Given the description of an element on the screen output the (x, y) to click on. 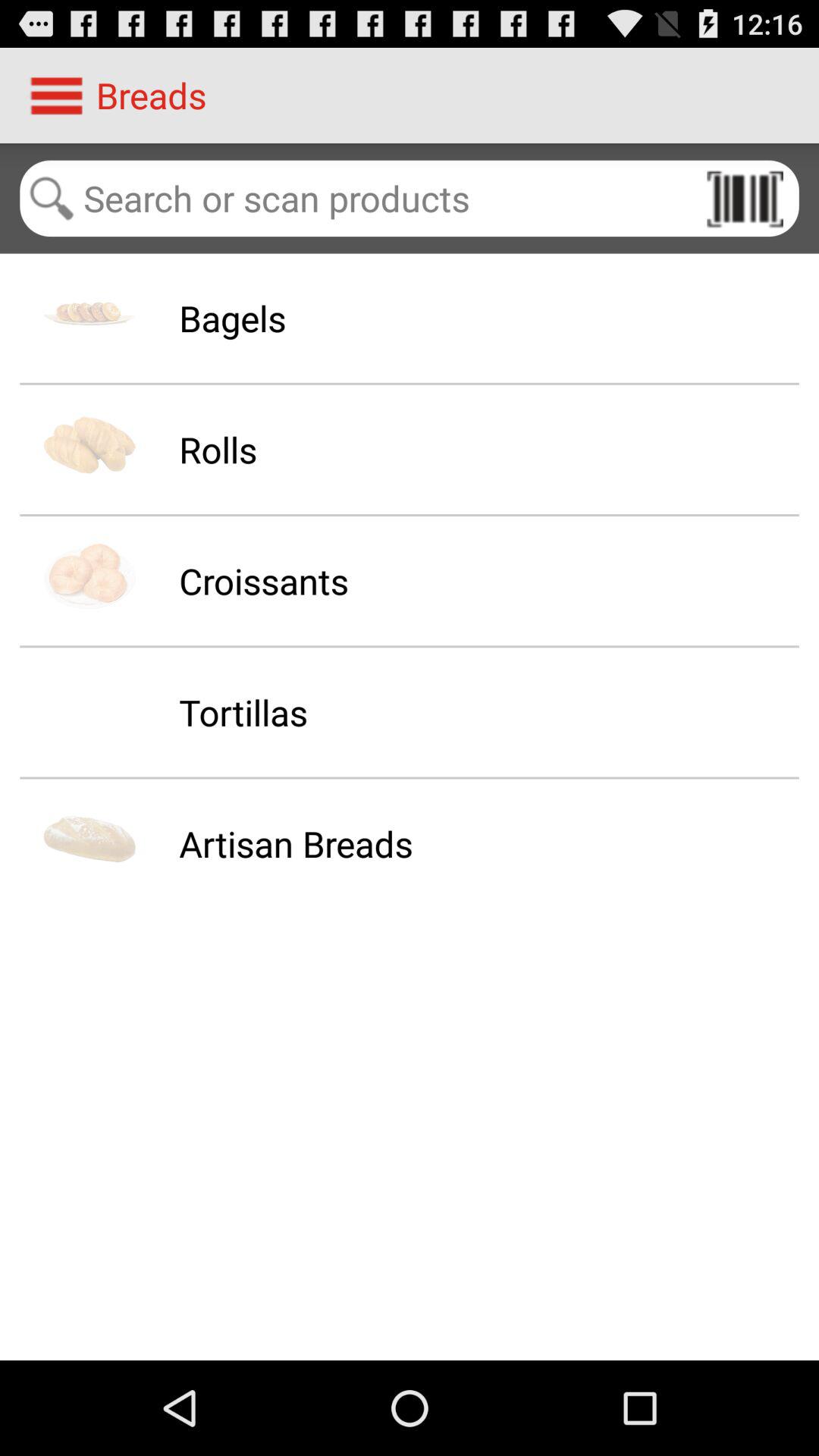
tap the tortillas icon (243, 712)
